Given the description of an element on the screen output the (x, y) to click on. 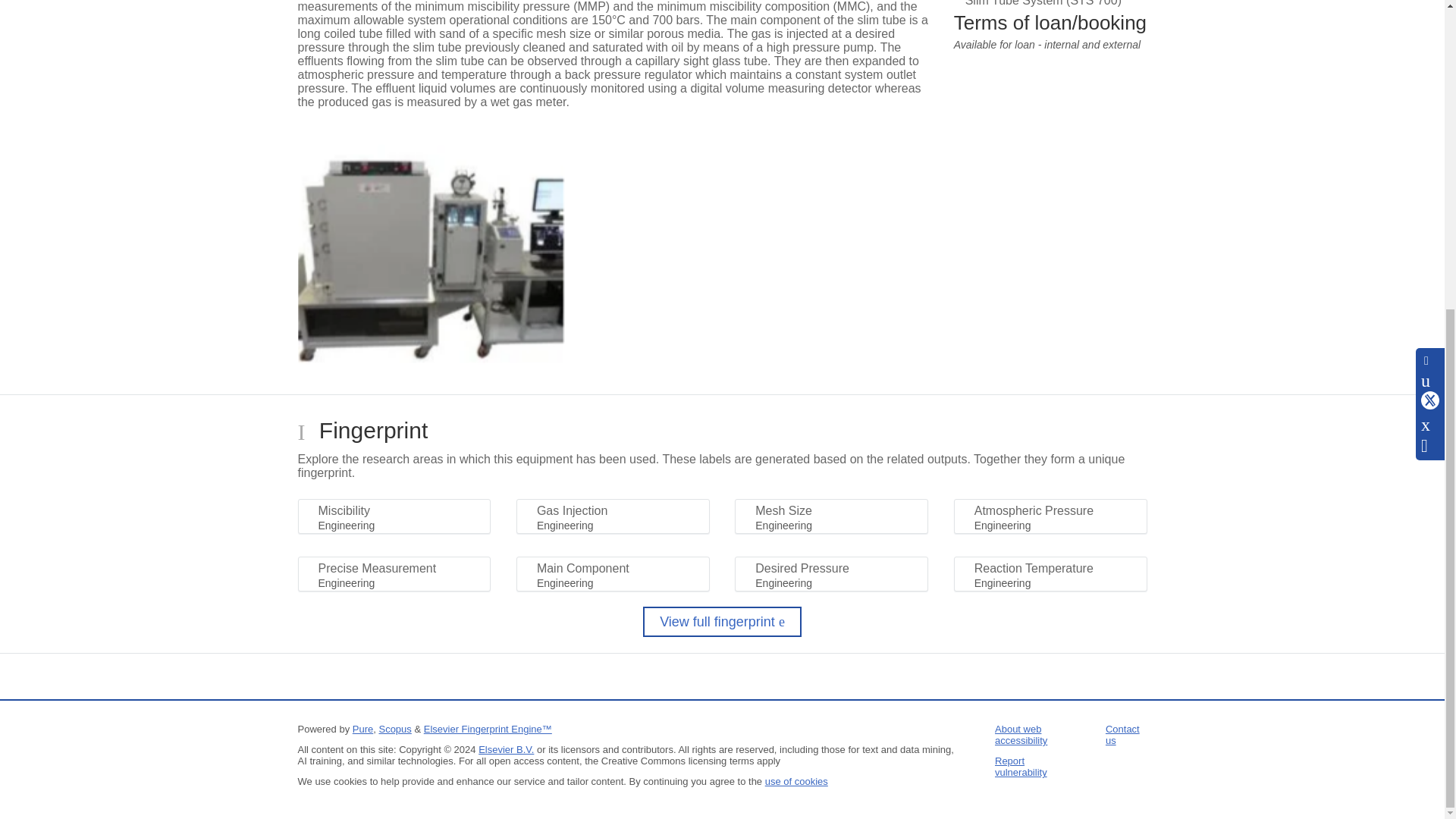
Pure (362, 728)
About web accessibility (1020, 734)
Elsevier B.V. (506, 749)
Report vulnerability (1020, 766)
Contact us (1122, 734)
View full fingerprint (722, 621)
use of cookies (796, 781)
Scopus (394, 728)
